Given the description of an element on the screen output the (x, y) to click on. 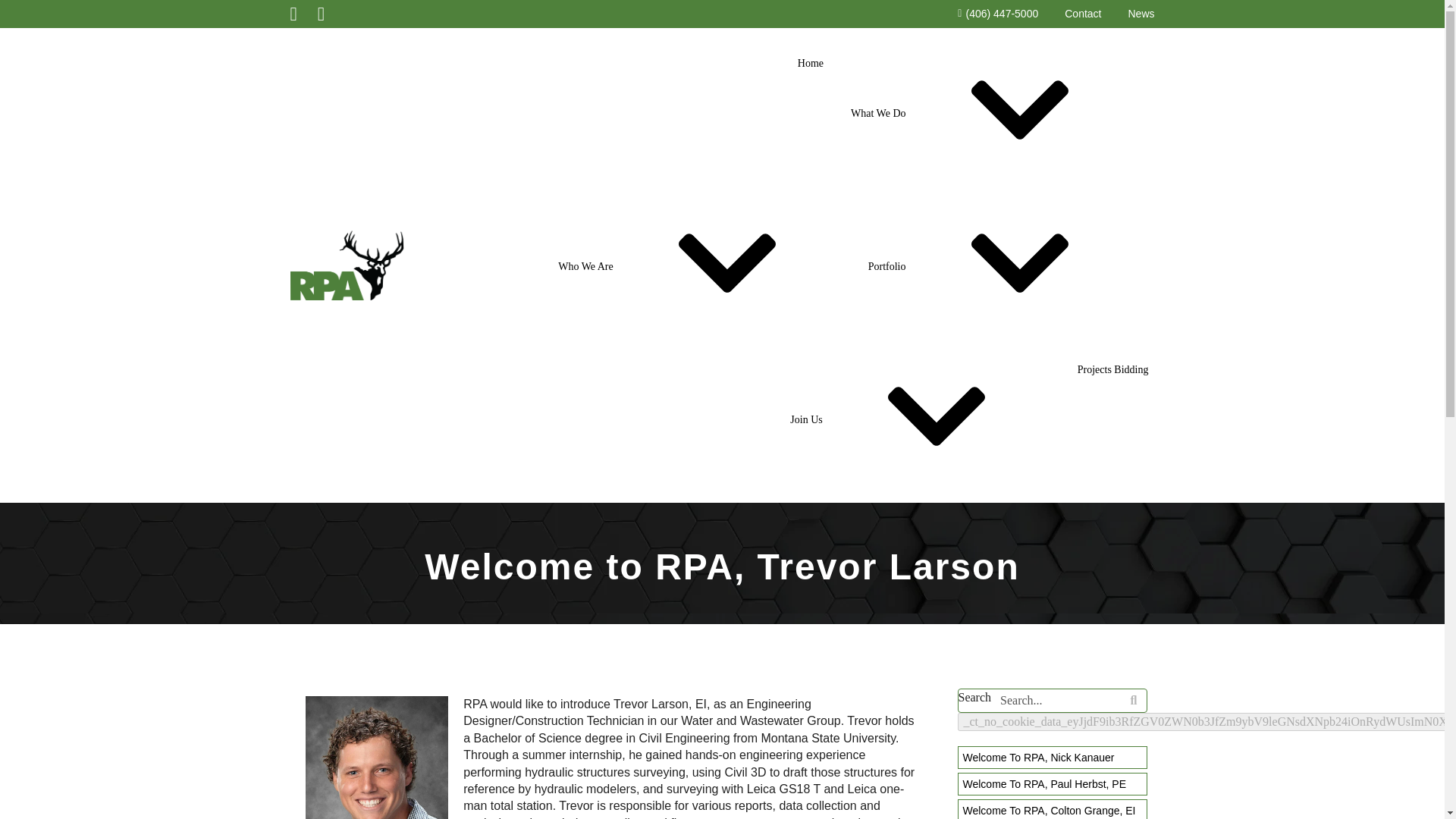
Portfolio (1000, 265)
News (1140, 13)
What We Do (991, 112)
Contact (1082, 13)
Who We Are (698, 265)
Join Us (919, 418)
Projects Bidding (1112, 368)
